Given the description of an element on the screen output the (x, y) to click on. 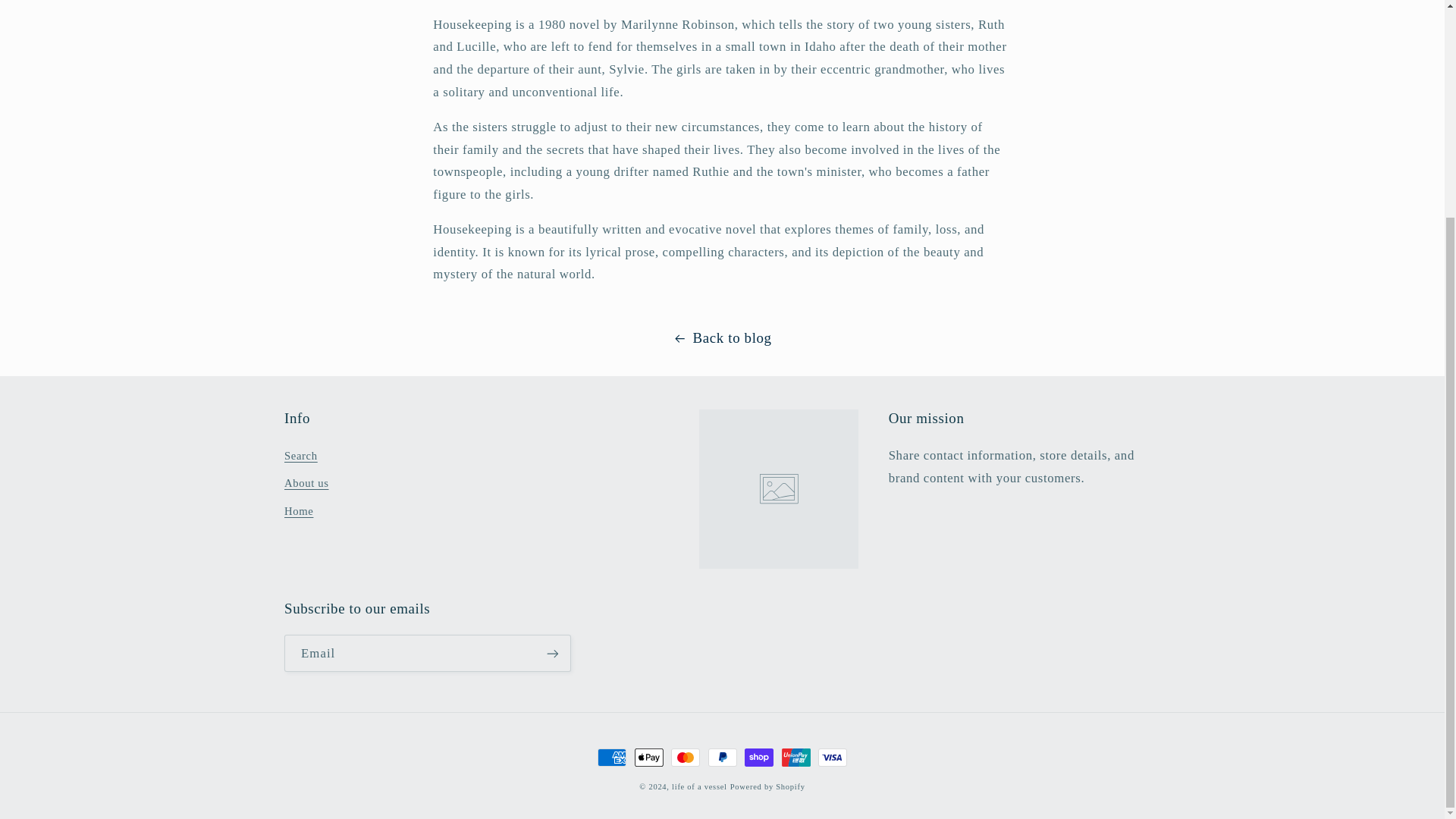
Search (300, 458)
Home (298, 510)
Powered by Shopify (767, 786)
About us (306, 483)
life of a vessel (698, 786)
